Given the description of an element on the screen output the (x, y) to click on. 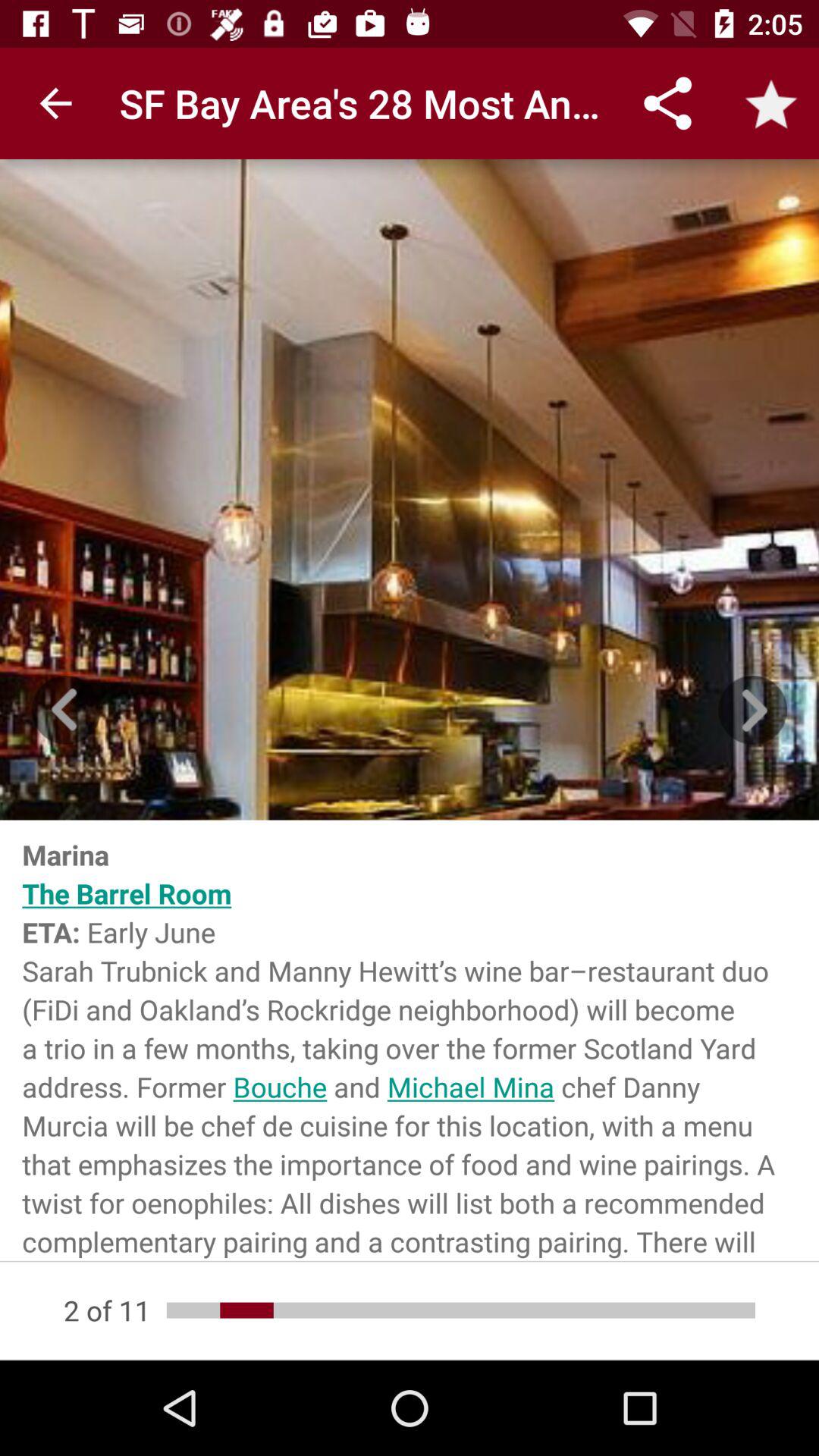
turn off icon at the top left corner (55, 103)
